Given the description of an element on the screen output the (x, y) to click on. 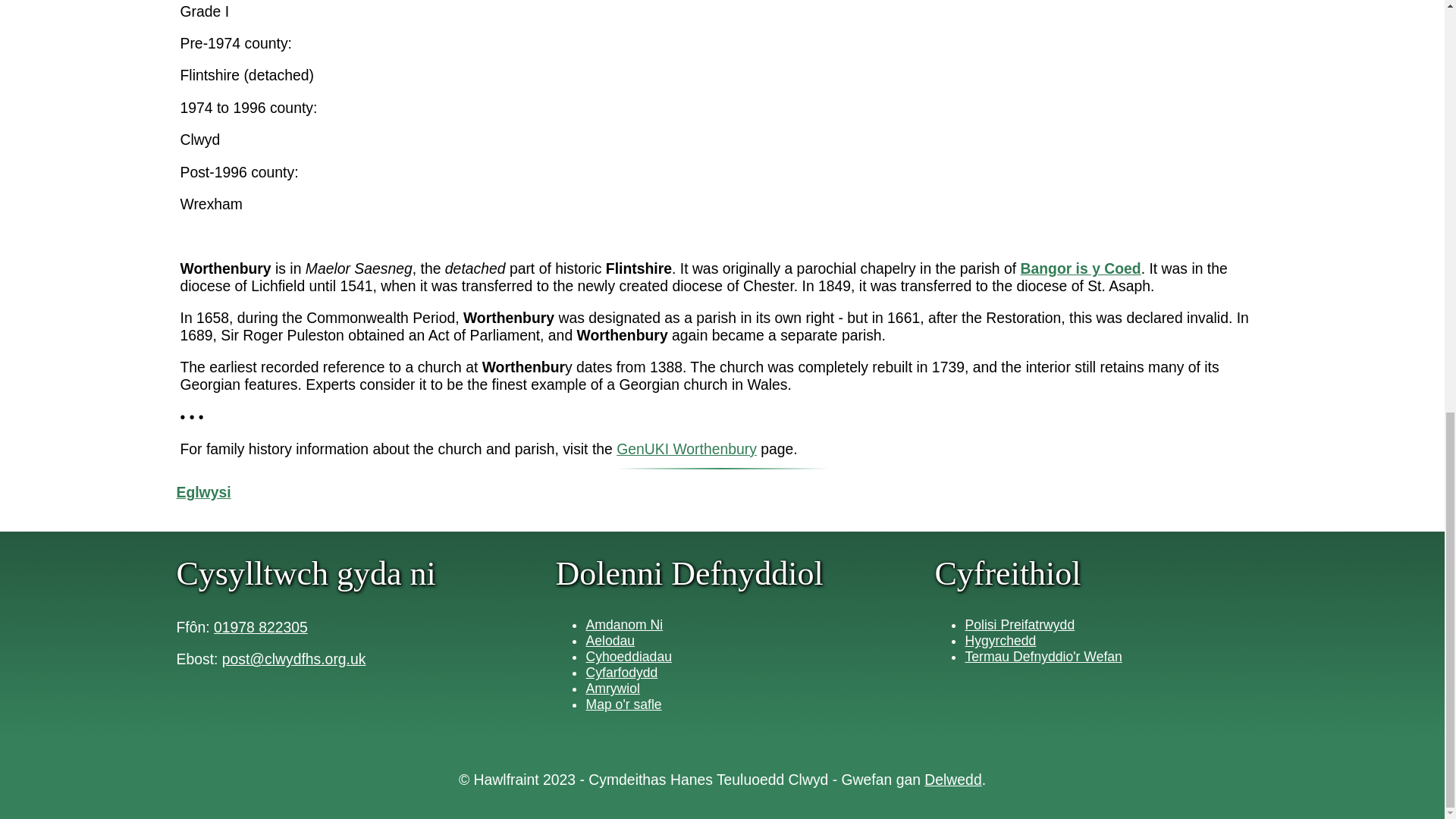
01978 822305 (260, 627)
Aelodau (609, 640)
Bangor is y Coed (1080, 268)
Eglwysi (203, 492)
GenUKI Worthenbury (686, 448)
Amdanom Ni (623, 624)
